Given the description of an element on the screen output the (x, y) to click on. 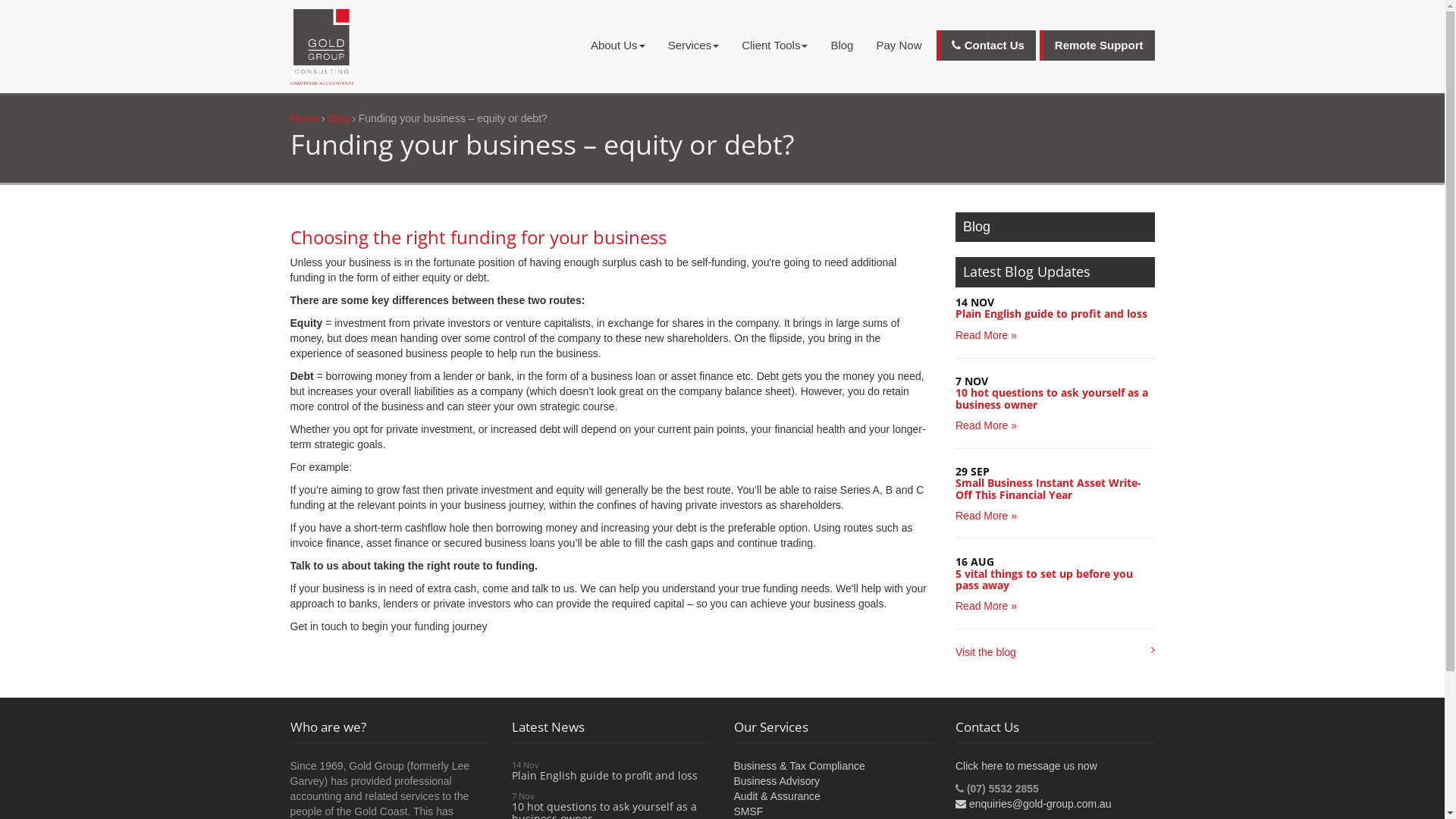
Home Element type: text (303, 118)
Plain English guide to profit and loss Element type: text (604, 775)
Business & Tax Compliance Element type: text (799, 765)
Remote Support Element type: text (1096, 45)
10 hot questions to ask yourself as a business owner Element type: text (1051, 398)
Plain English guide to profit and loss Element type: text (1051, 313)
Services Element type: text (693, 45)
Pay Now Element type: text (898, 45)
Small Business Instant Asset Write-Off This Financial Year Element type: text (1048, 488)
5 vital things to set up before you pass away Element type: text (1043, 579)
Blog Element type: text (337, 118)
About Us Element type: text (617, 45)
Audit & Assurance Element type: text (777, 796)
Visit the blog Element type: text (985, 652)
Business Advisory Element type: text (777, 781)
Blog Element type: text (1054, 227)
Client Tools Element type: text (774, 45)
Click here to message us now Element type: text (1026, 765)
SMSF Element type: text (748, 811)
Blog Element type: text (841, 45)
Contact Us Element type: text (985, 45)
enquiries@gold-group.com.au Element type: text (1033, 803)
